Given the description of an element on the screen output the (x, y) to click on. 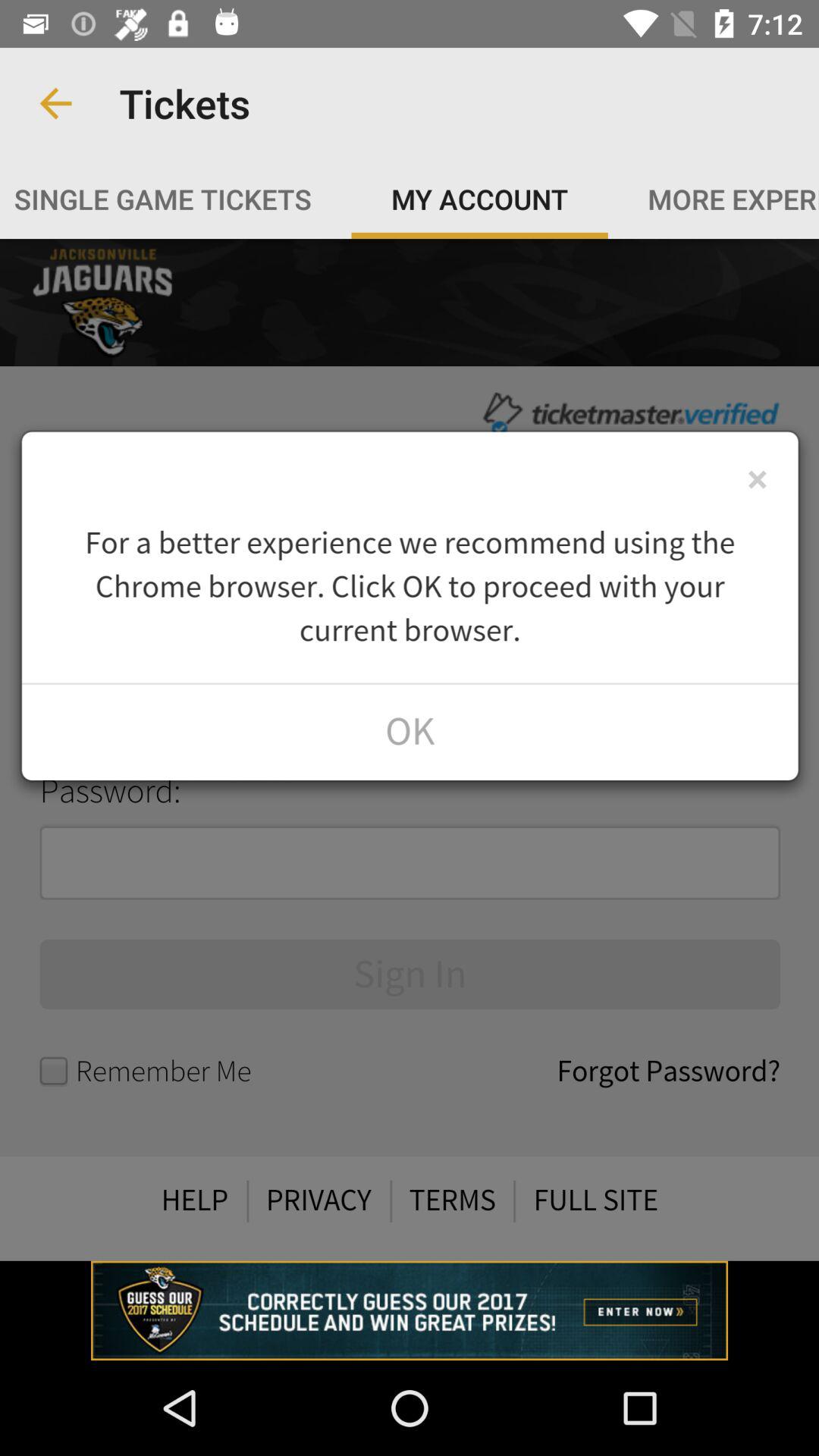
select the advertisement (409, 1310)
